Given the description of an element on the screen output the (x, y) to click on. 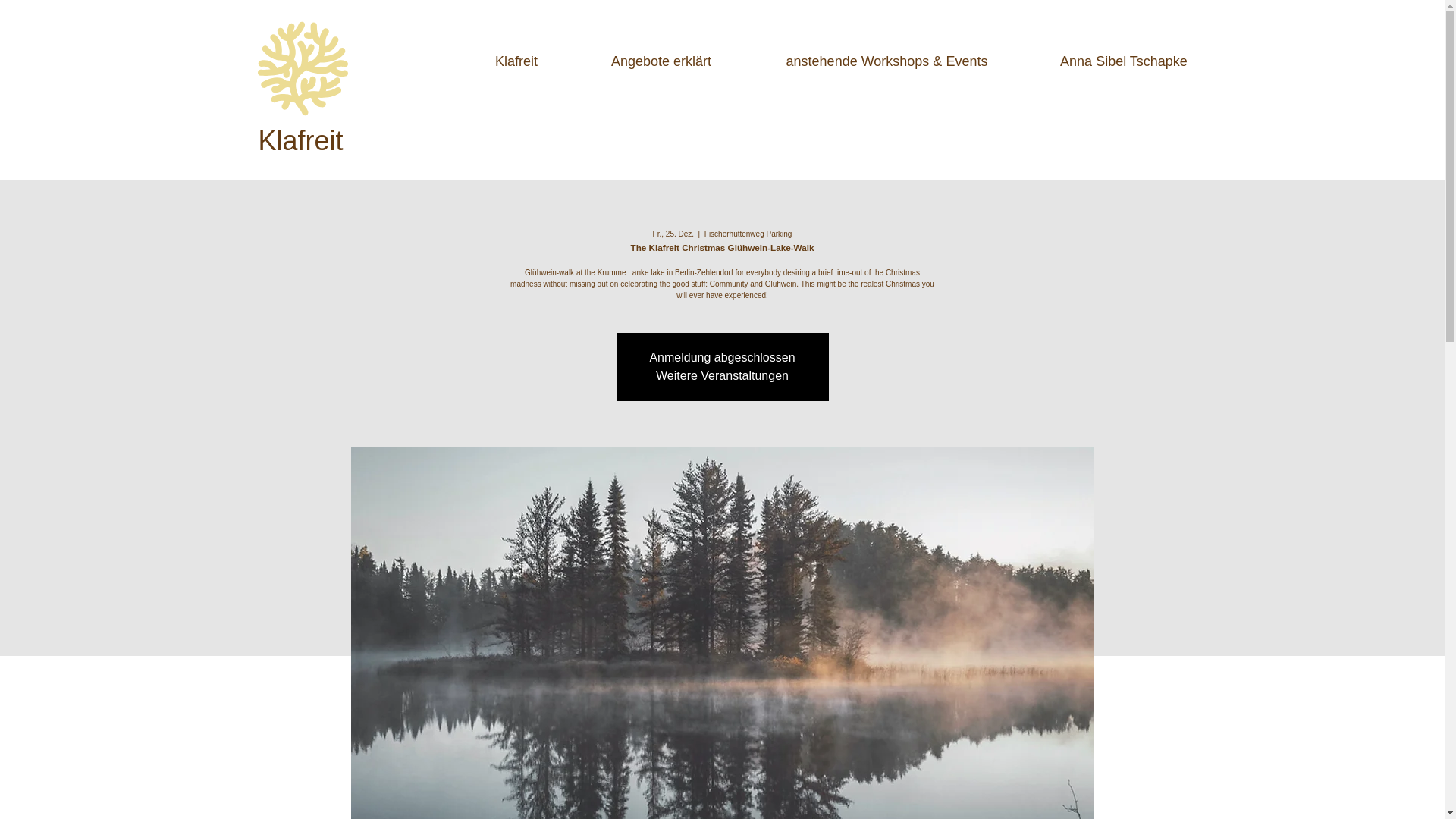
Anna Sibel Tschapke (1124, 54)
Klafreit (516, 54)
Weitere Veranstaltungen (722, 375)
